Given the description of an element on the screen output the (x, y) to click on. 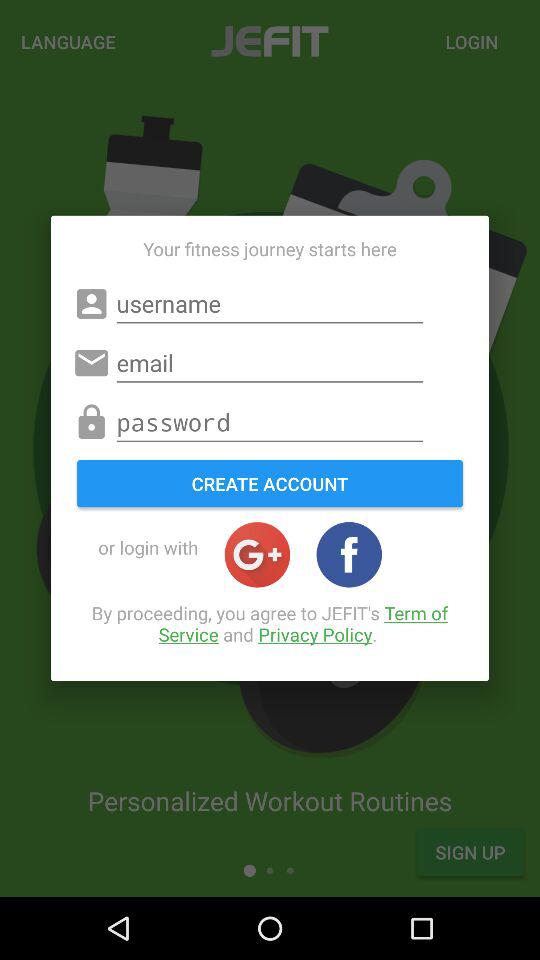
open google log in interface (257, 554)
